Given the description of an element on the screen output the (x, y) to click on. 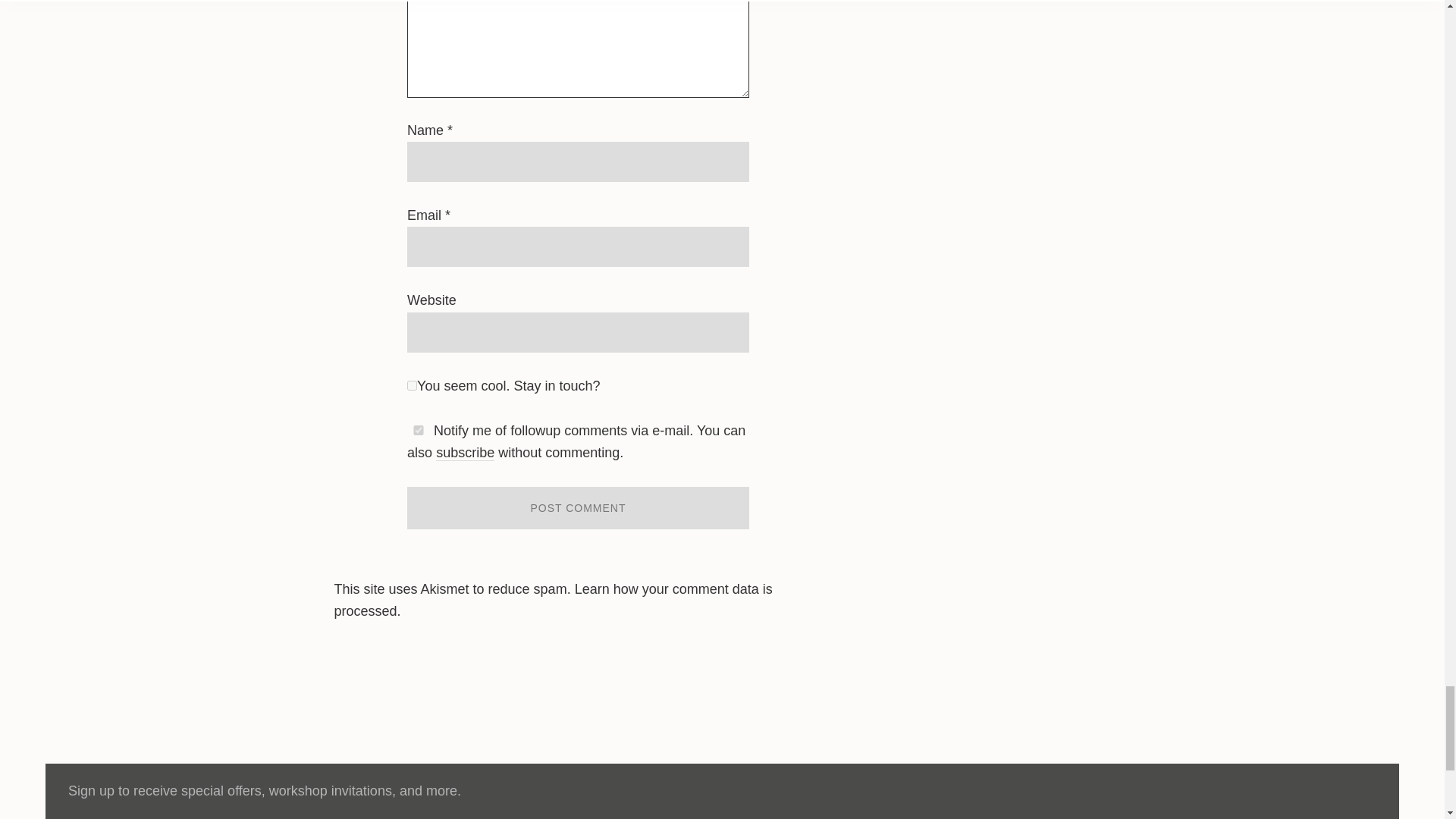
yes (418, 429)
Post Comment (578, 507)
1 (411, 385)
Join Now (1263, 791)
